Given the description of an element on the screen output the (x, y) to click on. 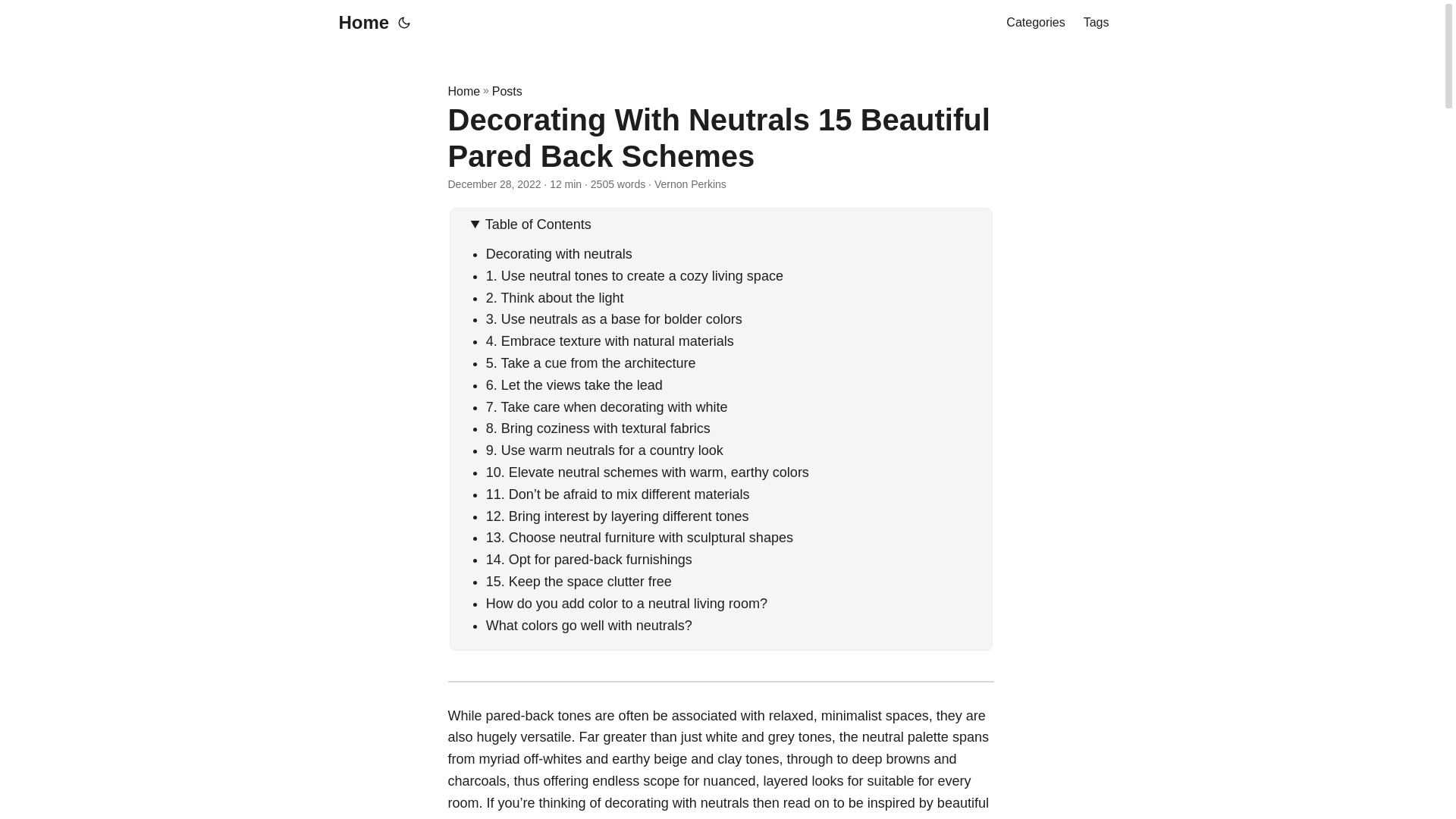
3. Use neutrals as a base for bolder colors (614, 319)
Tags (1096, 22)
13. Choose neutral furniture with sculptural shapes (639, 537)
6. Let the views take the lead (574, 385)
Home (463, 91)
Decorating with neutrals  (561, 253)
8. Bring coziness with textural fabrics (598, 427)
Categories (1035, 22)
1. Use neutral tones to create a cozy living space (634, 275)
Categories (1035, 22)
4. Embrace texture with natural materials (609, 340)
9. Use warm neutrals for a country look (604, 450)
12. Bring interest by layering different tones (617, 516)
How do you add color to a neutral living room? (626, 603)
Home (359, 22)
